Given the description of an element on the screen output the (x, y) to click on. 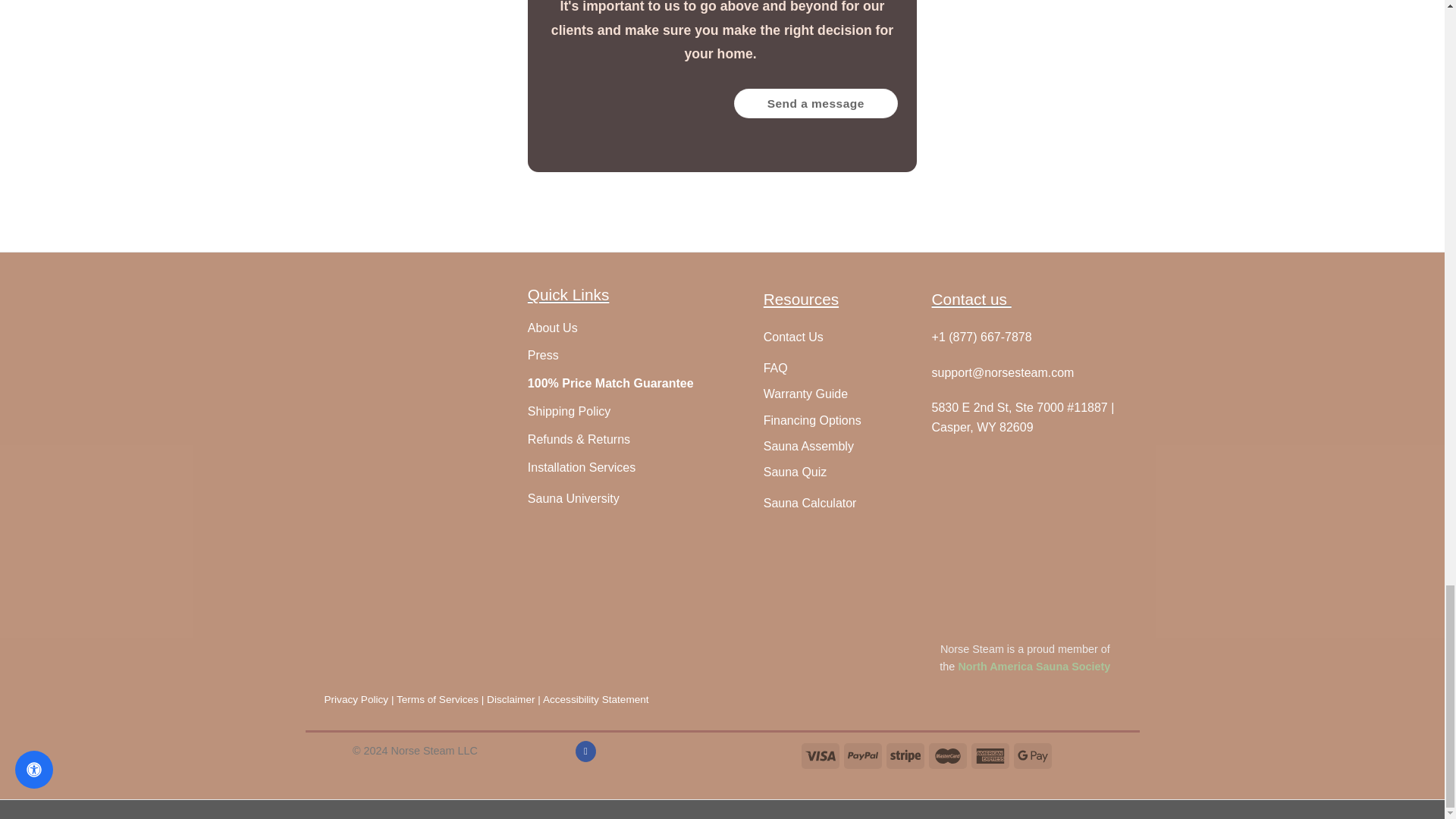
Follow on Facebook (585, 751)
